Given the description of an element on the screen output the (x, y) to click on. 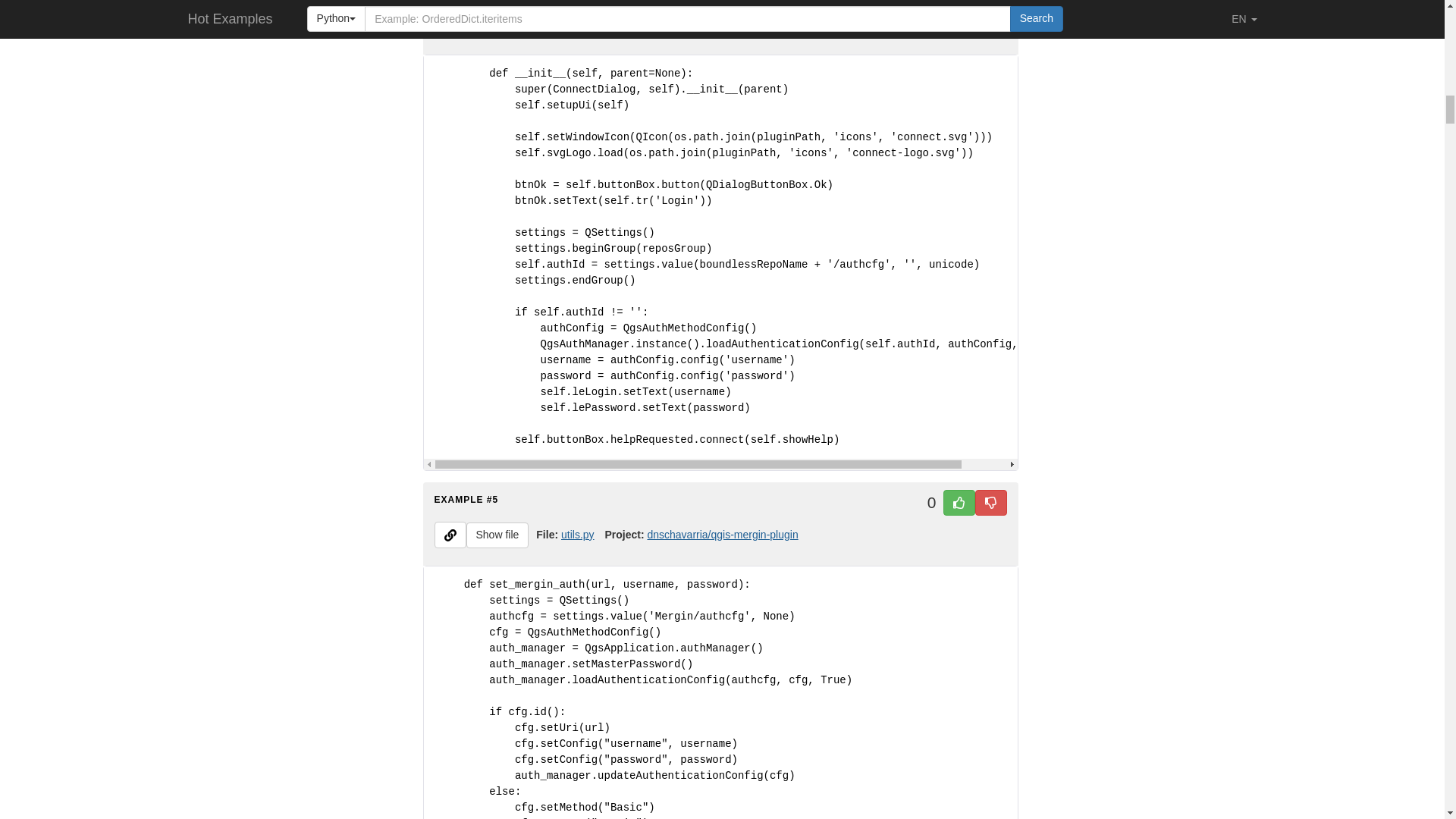
Mark this example as good (959, 2)
